Given the description of an element on the screen output the (x, y) to click on. 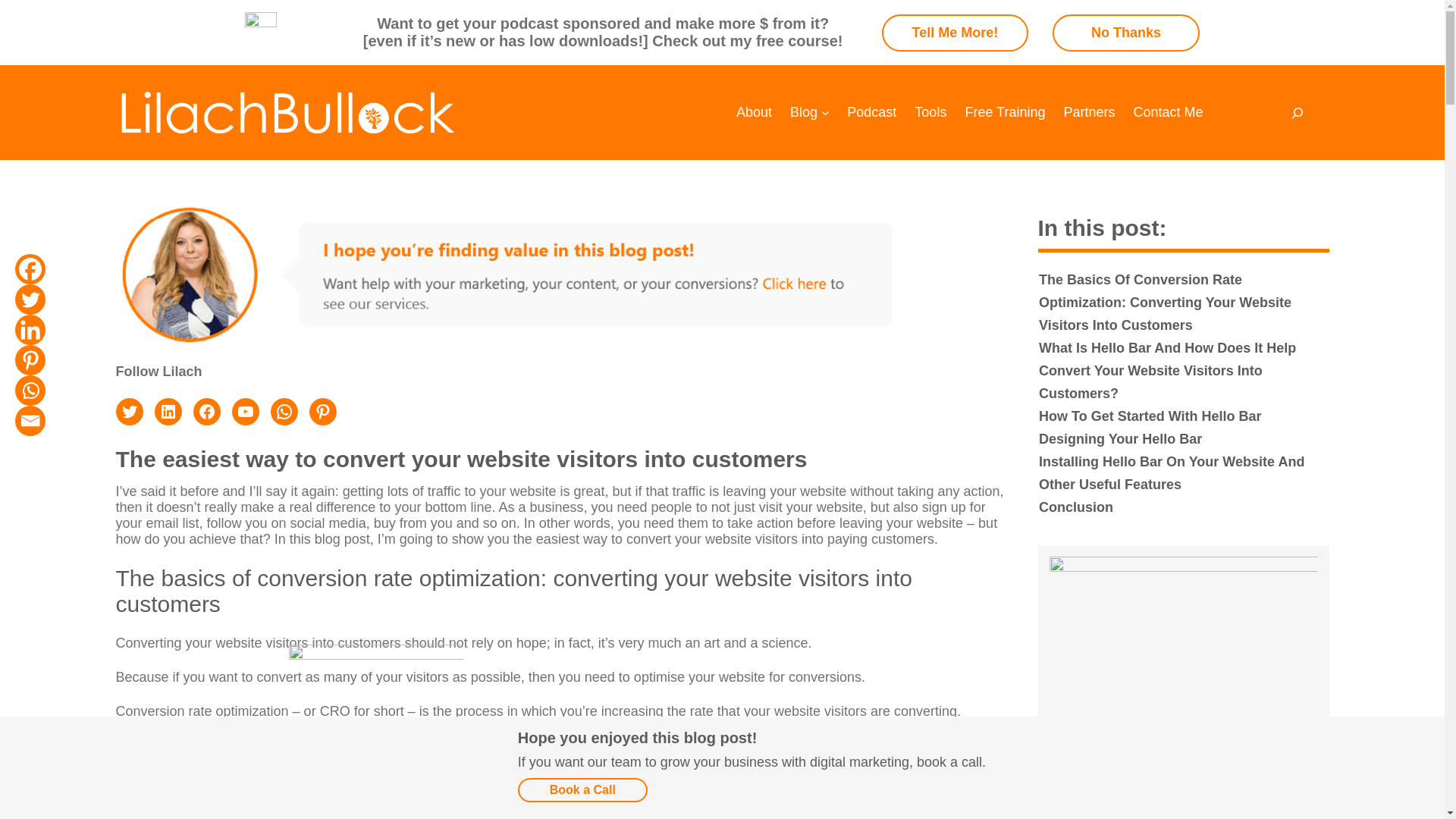
Pinterest (29, 359)
Facebook (29, 268)
Tools (930, 112)
Tell Me More! (955, 31)
About (753, 112)
Free Training (1004, 112)
Podcast (871, 112)
Blog (803, 112)
No Thanks (1125, 31)
Partners (1088, 112)
